Given the description of an element on the screen output the (x, y) to click on. 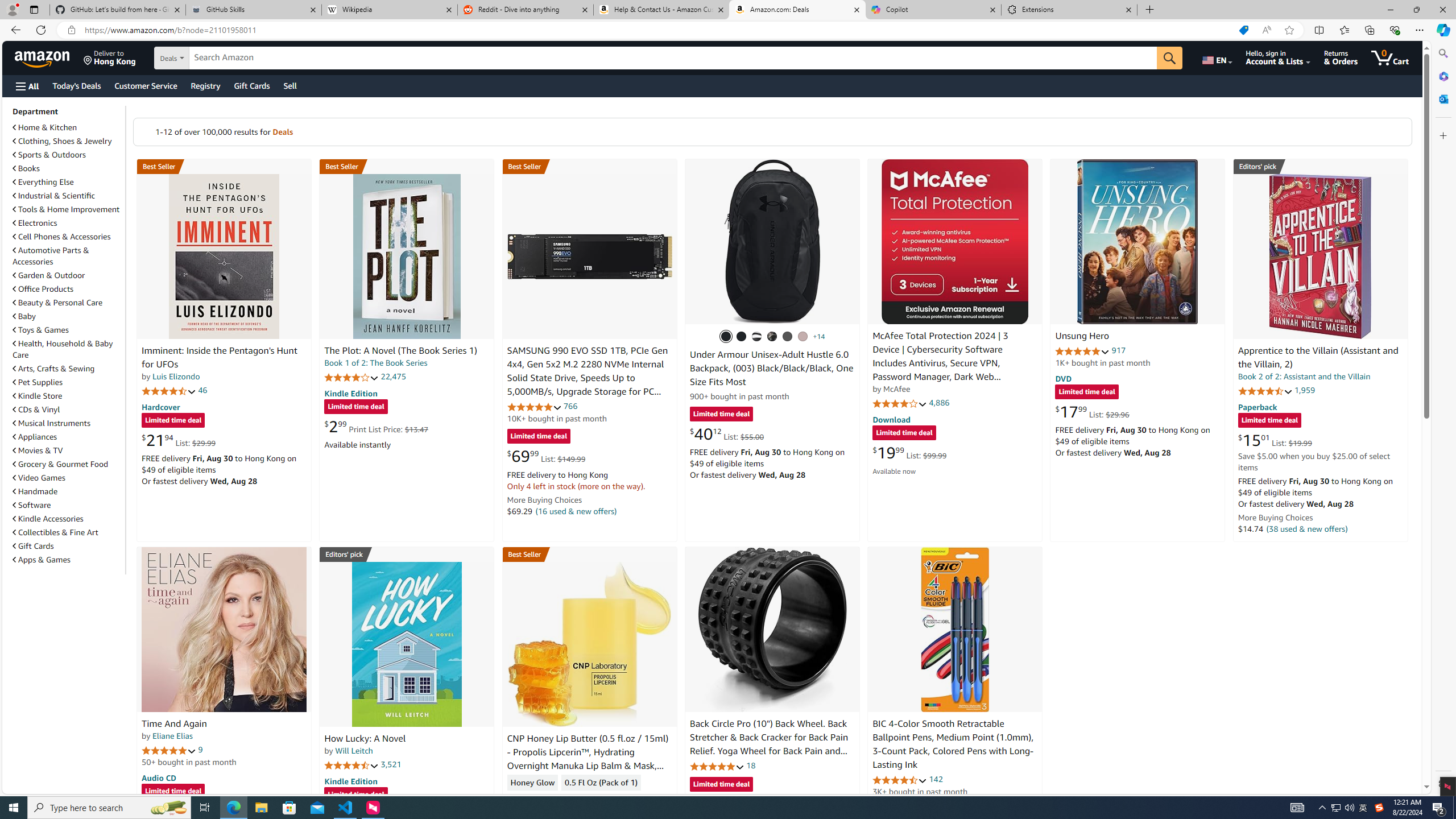
Pet Supplies (37, 381)
Appliances (67, 436)
Beauty & Personal Care (58, 302)
22,475 (393, 376)
Office Products (67, 288)
Gift Cards (67, 546)
CDs & Vinyl (36, 409)
Tools & Home Improvement (67, 208)
1,959 (1305, 390)
3,521 (390, 764)
